Given the description of an element on the screen output the (x, y) to click on. 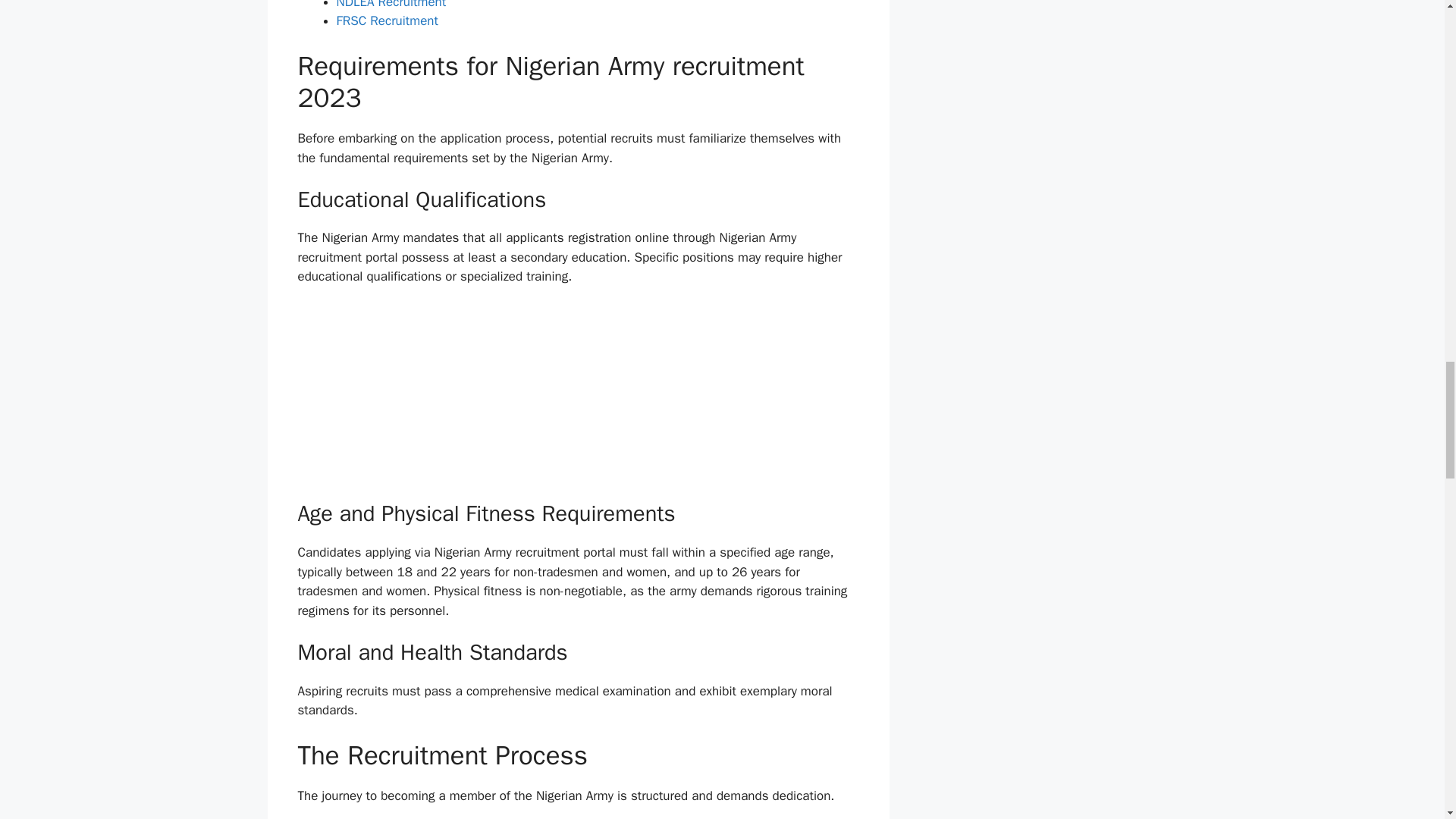
NDLEA Recruitment (391, 4)
FRSC Recruitment (387, 20)
